Given the description of an element on the screen output the (x, y) to click on. 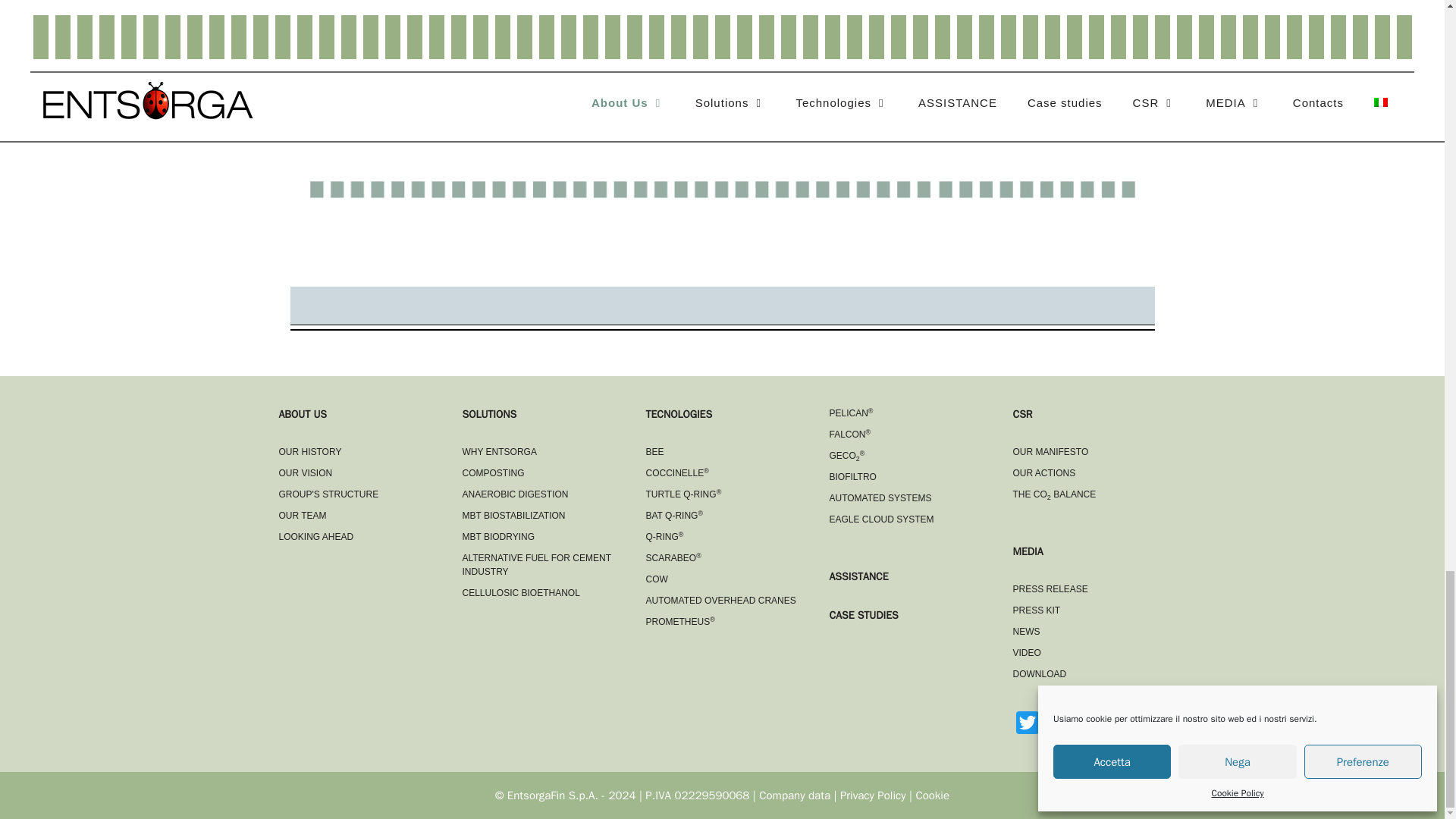
Our team (316, 536)
anaerobic digestion (516, 493)
Our team (302, 515)
MBT biostabilization (514, 515)
group's structure (328, 493)
why entsorga (500, 451)
composting (493, 472)
OUR HISTORY (310, 451)
OUR HISTORY 2 (721, 189)
our vision (306, 472)
